Given the description of an element on the screen output the (x, y) to click on. 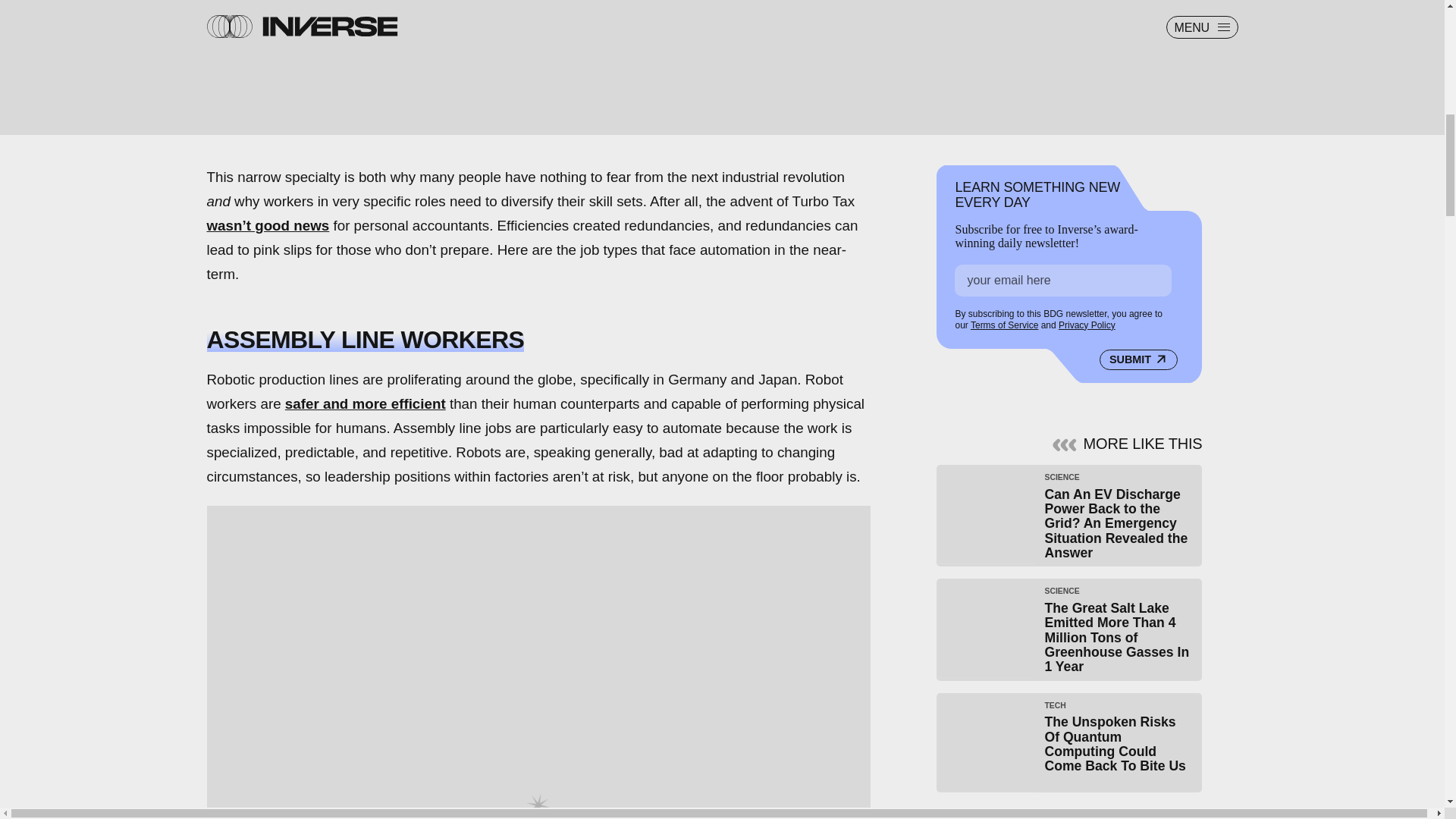
safer and more efficient (365, 403)
Terms of Service (1004, 325)
Privacy Policy (1086, 325)
SUBMIT (1138, 360)
